Given the description of an element on the screen output the (x, y) to click on. 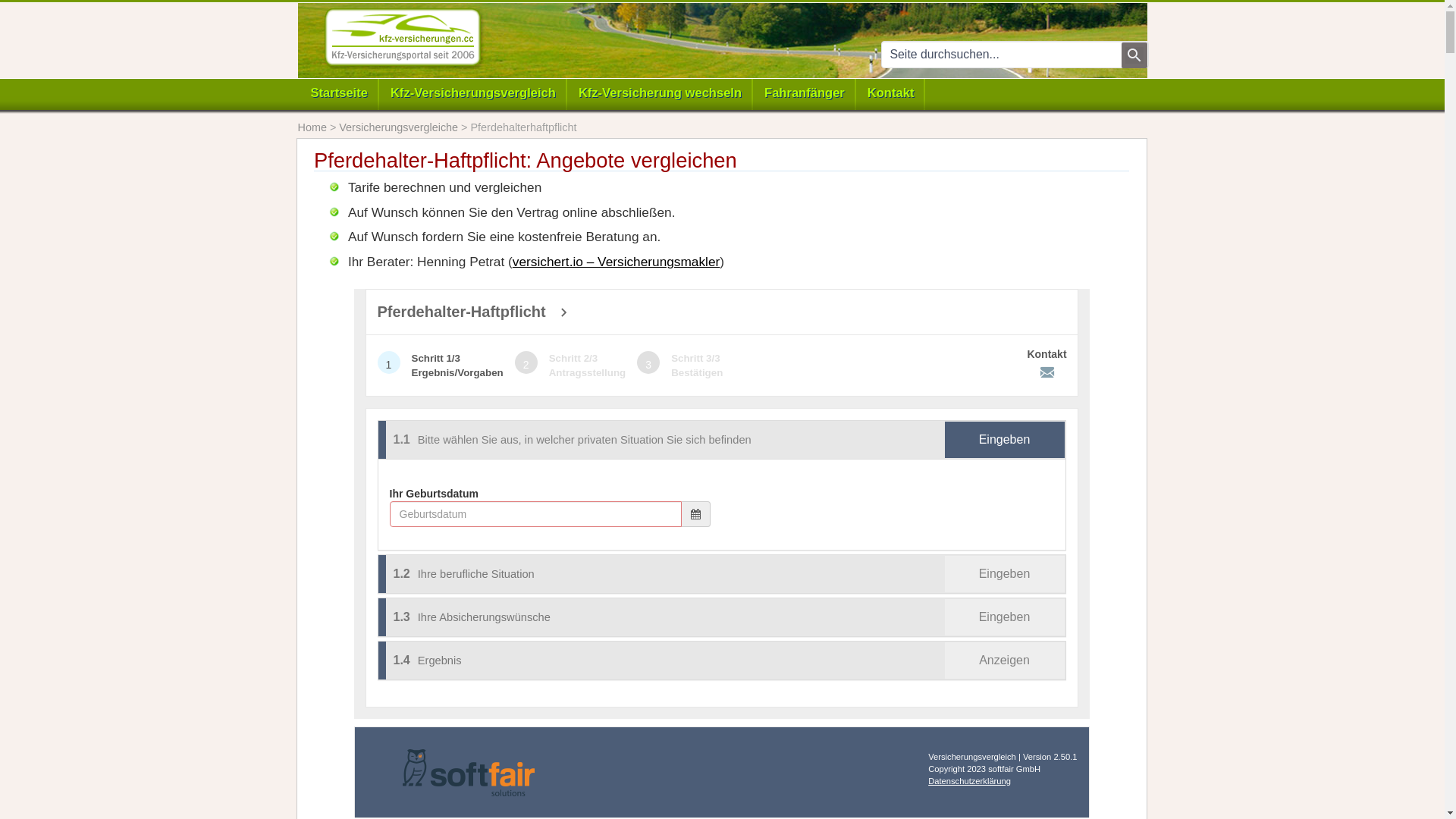
Kfz-Versicherung wechseln Element type: text (660, 94)
Startseite Element type: text (338, 94)
Versicherungsvergleiche Element type: text (398, 127)
  Element type: text (1133, 55)
Kfz-Versicherungsvergleich Element type: text (473, 94)
Kontakt Element type: text (890, 94)
kfz-versicherungen.cc Element type: hover (401, 38)
Home Element type: text (311, 127)
